Given the description of an element on the screen output the (x, y) to click on. 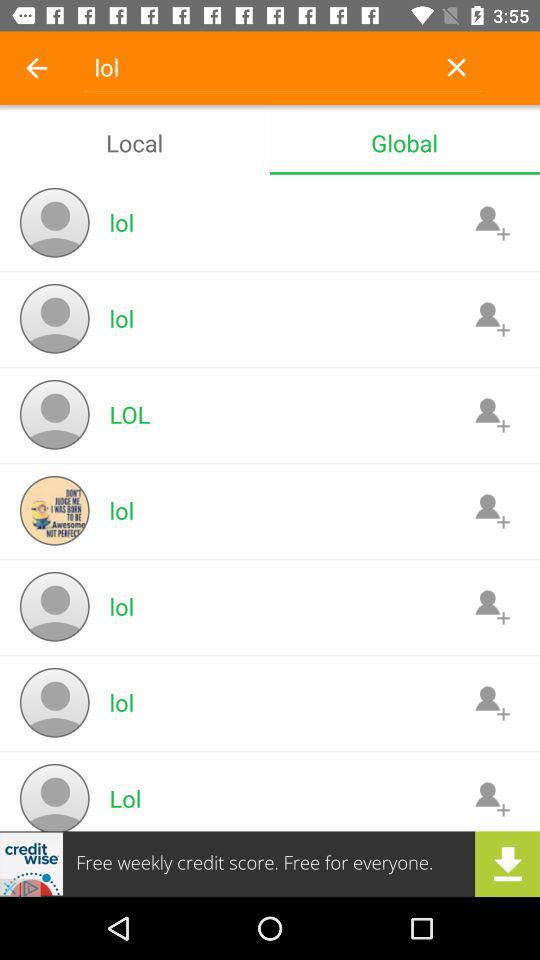
concet (492, 222)
